Given the description of an element on the screen output the (x, y) to click on. 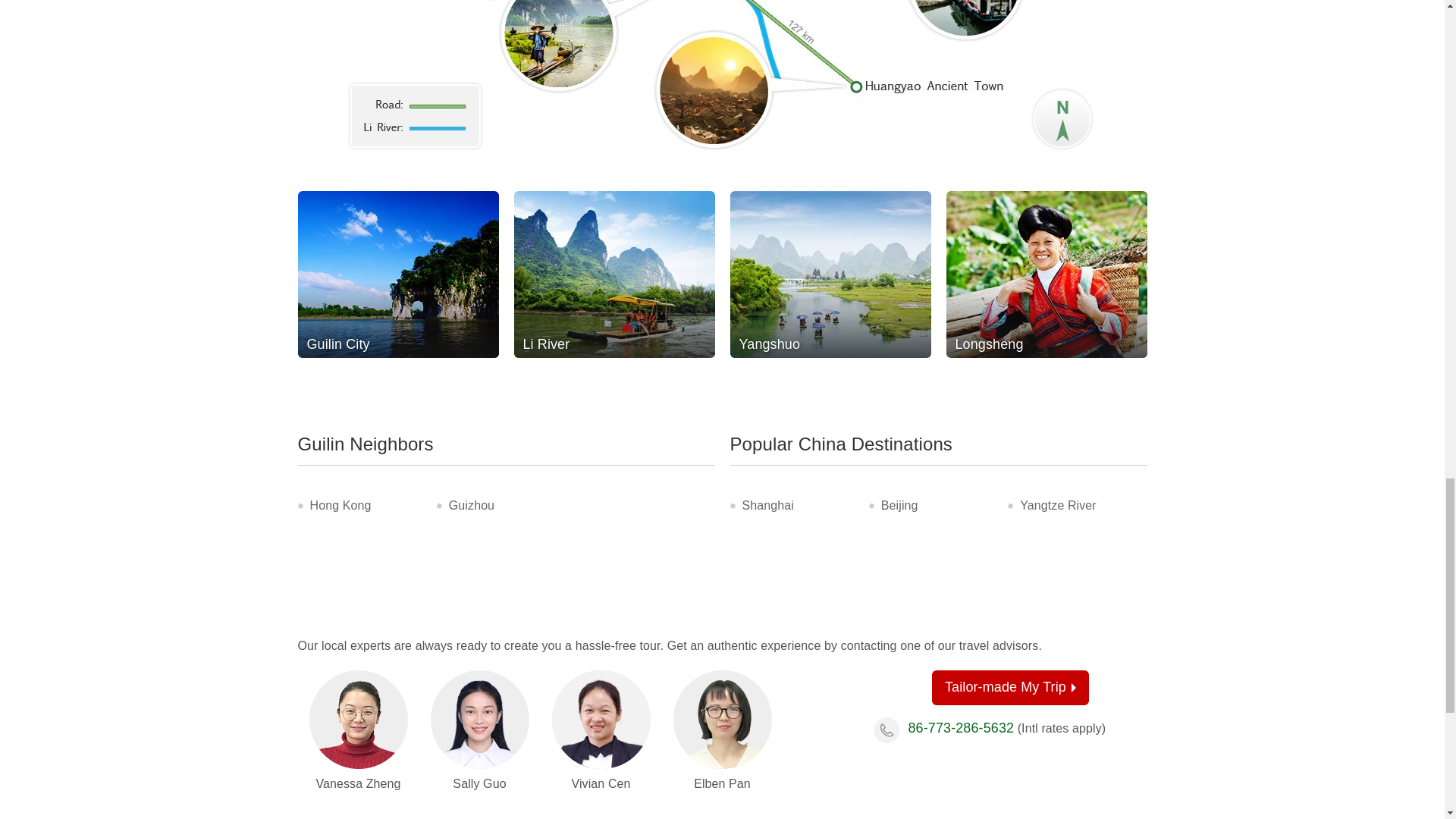
Shanghai (767, 504)
Li River (613, 273)
Longsheng (1046, 273)
Vanessa Zheng (357, 719)
Hong Kong (339, 504)
Sally Guo (479, 719)
Guizhou (471, 504)
Beijing (899, 504)
Guilin City (397, 273)
Yangtze River (1058, 504)
Yangshuo (829, 273)
Elben Pan (721, 719)
Tailor-made My Trip (1010, 687)
Vivian Cen (600, 719)
